Given the description of an element on the screen output the (x, y) to click on. 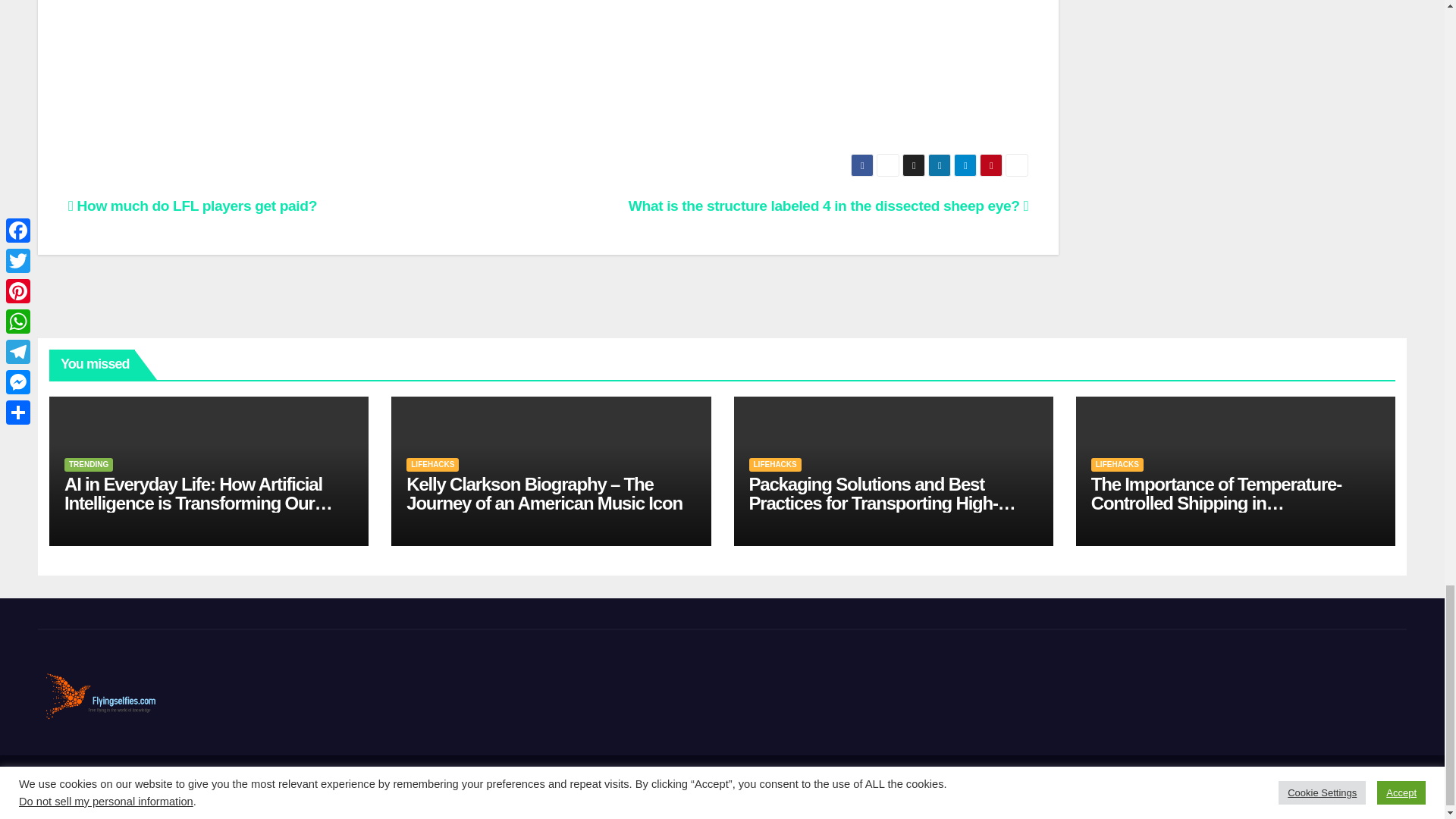
How much do LFL players get paid? (192, 205)
Terms of Use (1371, 786)
Privacy Policy (1296, 786)
Feedback (1228, 786)
What is the structure labeled 4 in the dissected sheep eye? (827, 205)
